Given the description of an element on the screen output the (x, y) to click on. 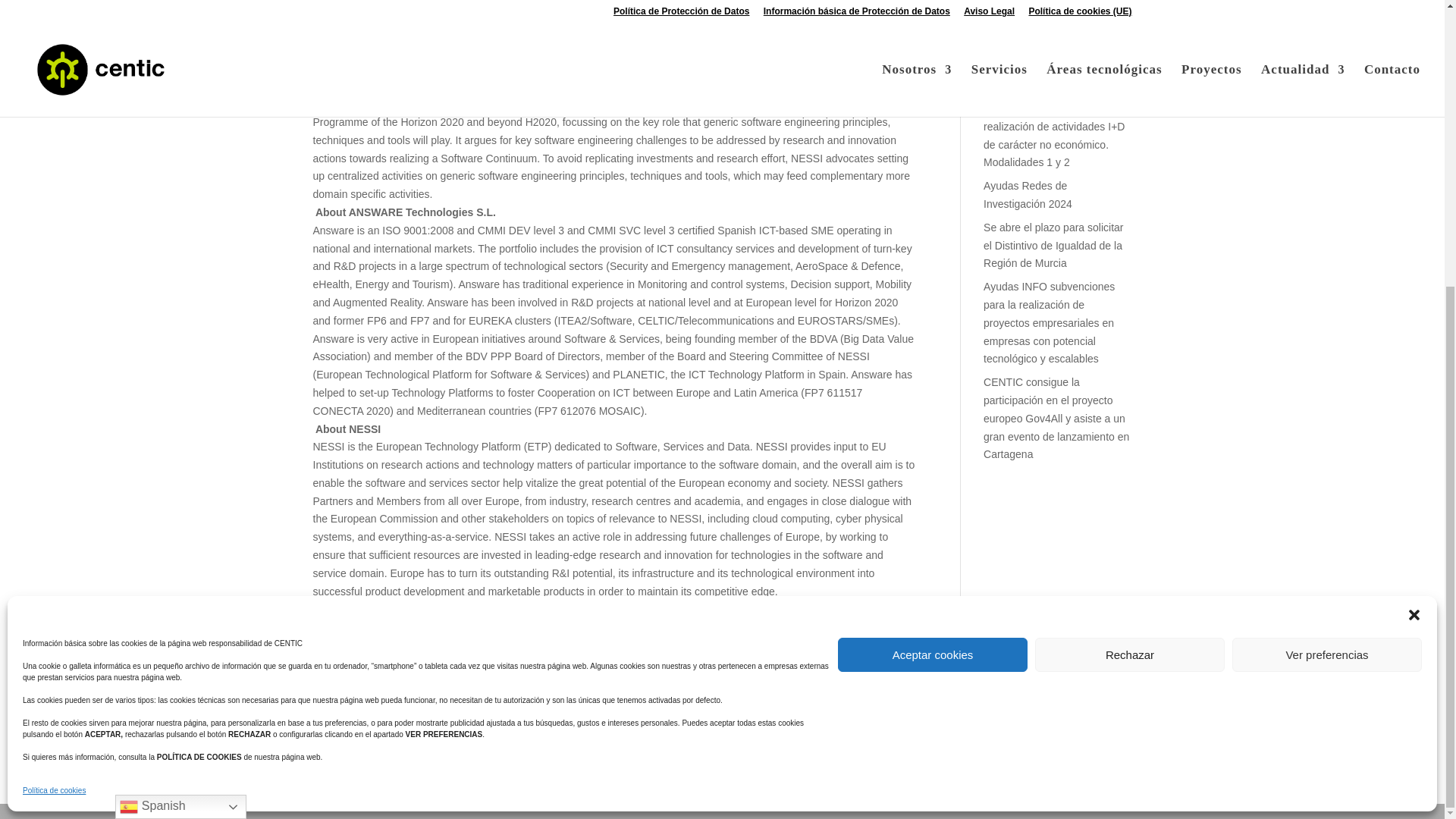
Ver preferencias (1326, 222)
Aceptar cookies (932, 222)
Rechazar (1129, 222)
